Given the description of an element on the screen output the (x, y) to click on. 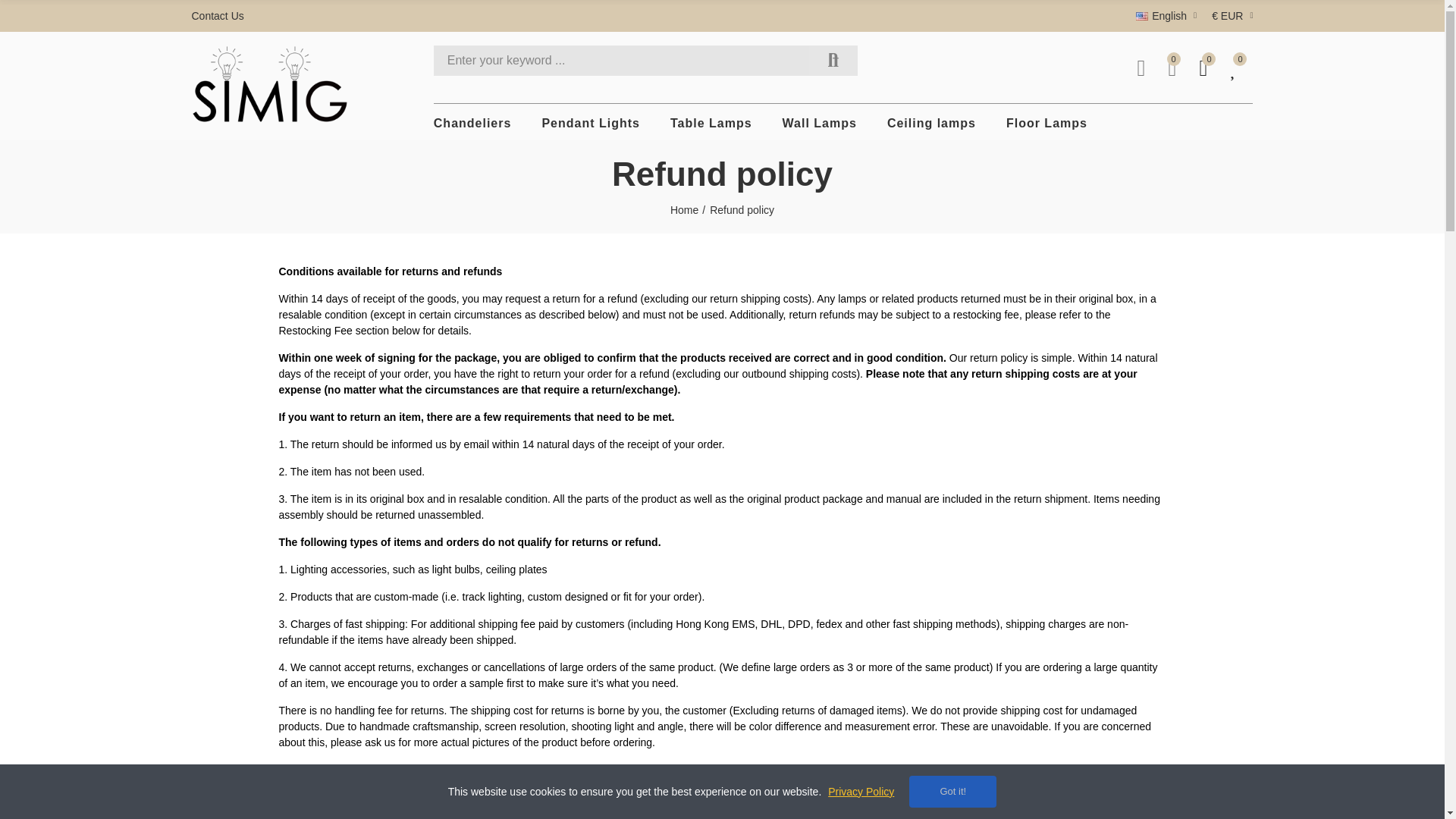
Table Lamps (710, 123)
Contact Us (220, 15)
Table lamp (710, 123)
Floor lamp (1046, 123)
Chandelier (472, 123)
Pendant Lights (590, 123)
Pendant light (590, 123)
Chandeliers (472, 123)
Wall lamp (820, 123)
Wall Lamps (820, 123)
